Given the description of an element on the screen output the (x, y) to click on. 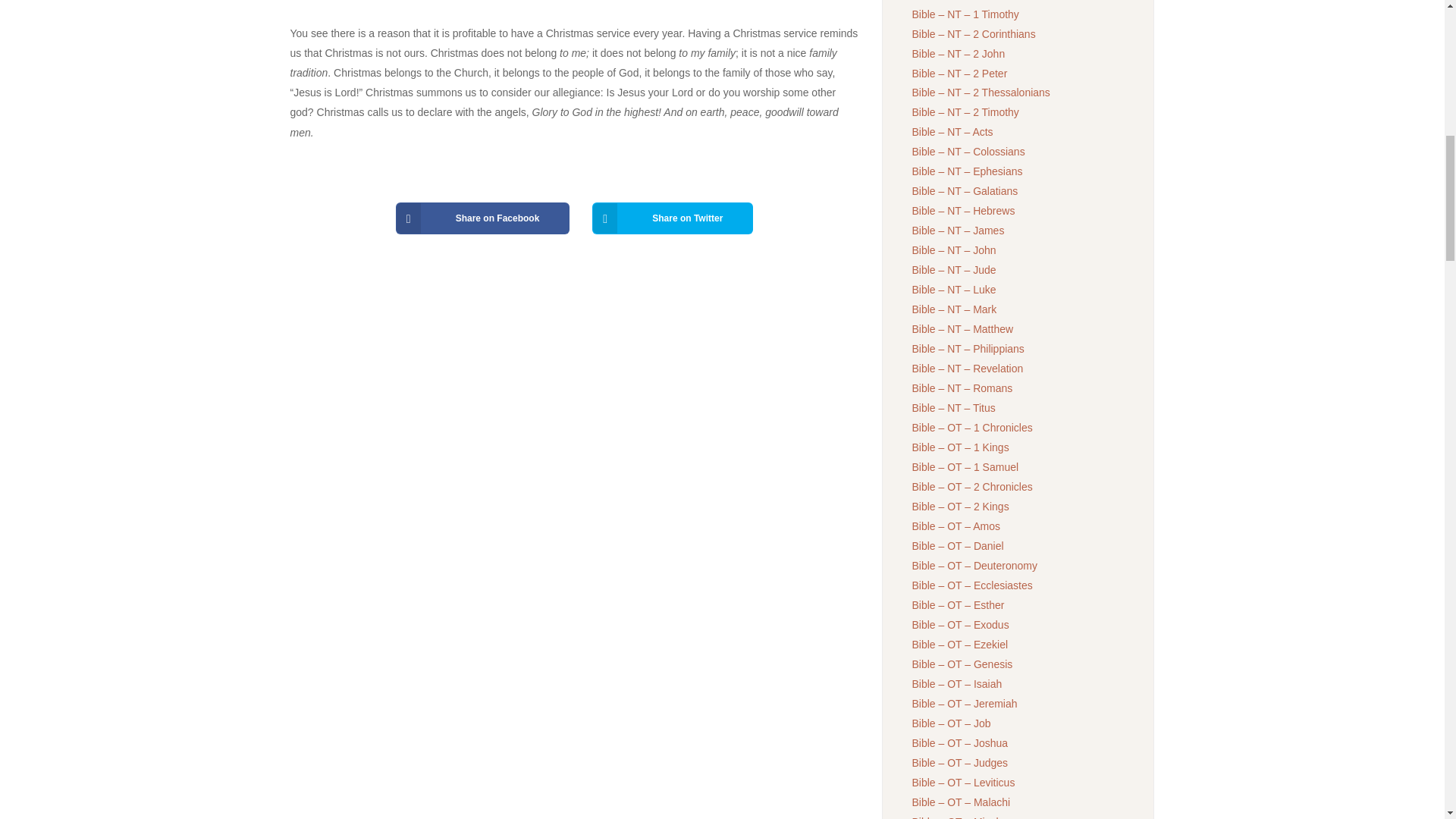
Share on Facebook (483, 218)
Share on Twitter (672, 218)
